Given the description of an element on the screen output the (x, y) to click on. 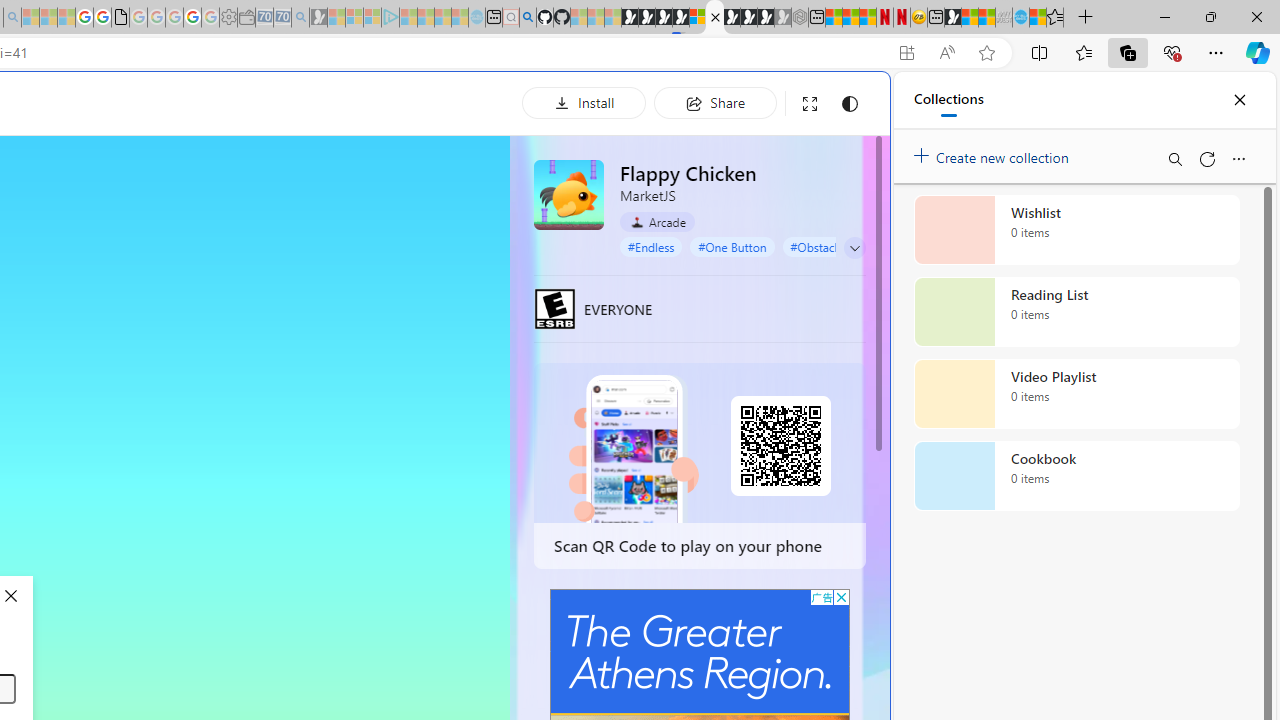
Share (715, 102)
Class: control (855, 248)
Arcade (657, 222)
EVERYONE (554, 308)
Wishlist collection, 0 items (1076, 229)
